Given the description of an element on the screen output the (x, y) to click on. 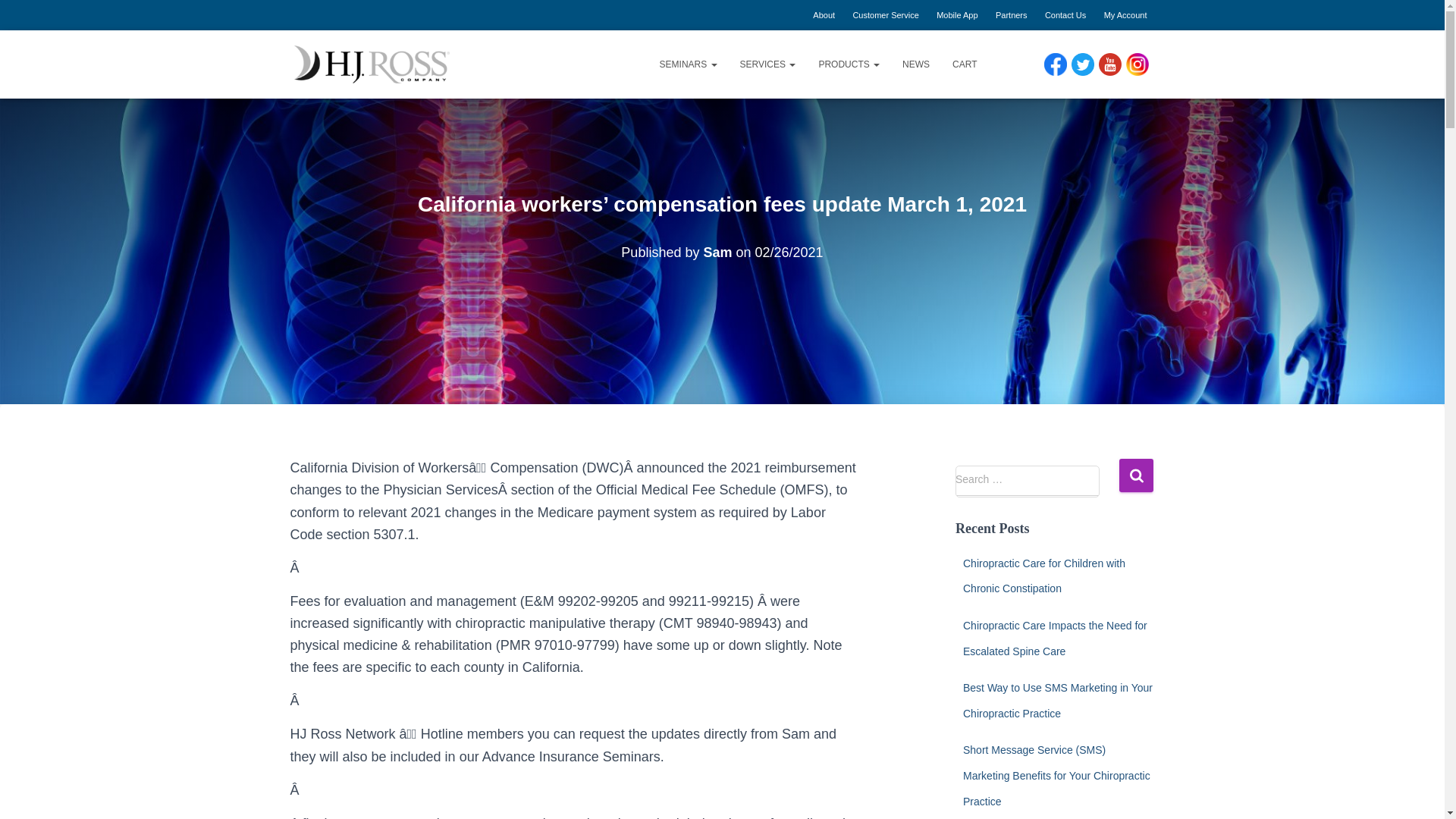
NEWS (915, 64)
Contact Us (1065, 15)
Search (1136, 474)
YOUTUBE (1109, 64)
Sam (717, 252)
Search (1136, 474)
FACEBOOK (1054, 64)
SERVICES (768, 64)
PRODUCTS (848, 64)
My Account (1125, 15)
